Given the description of an element on the screen output the (x, y) to click on. 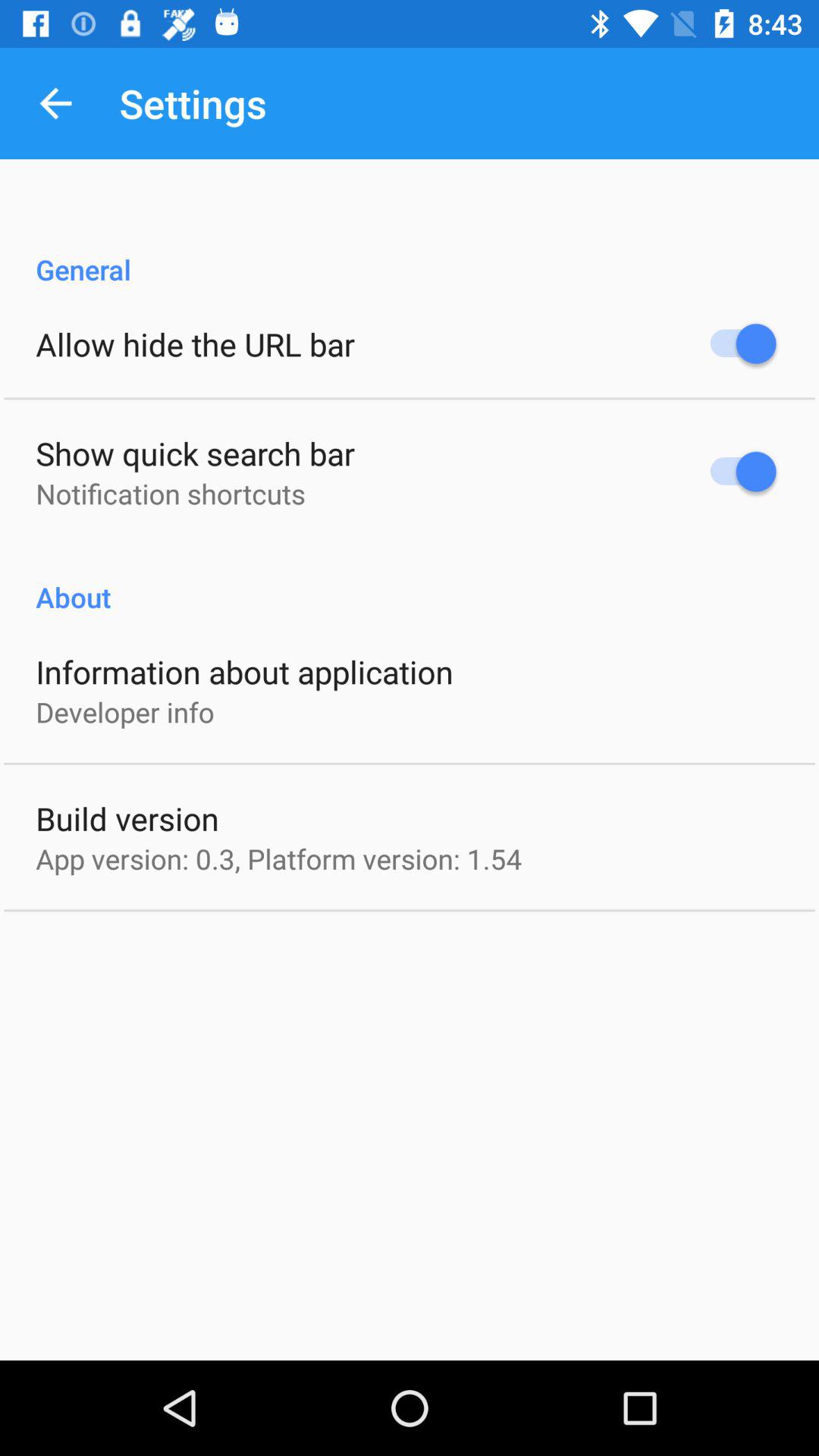
turn on item below build version item (278, 858)
